Given the description of an element on the screen output the (x, y) to click on. 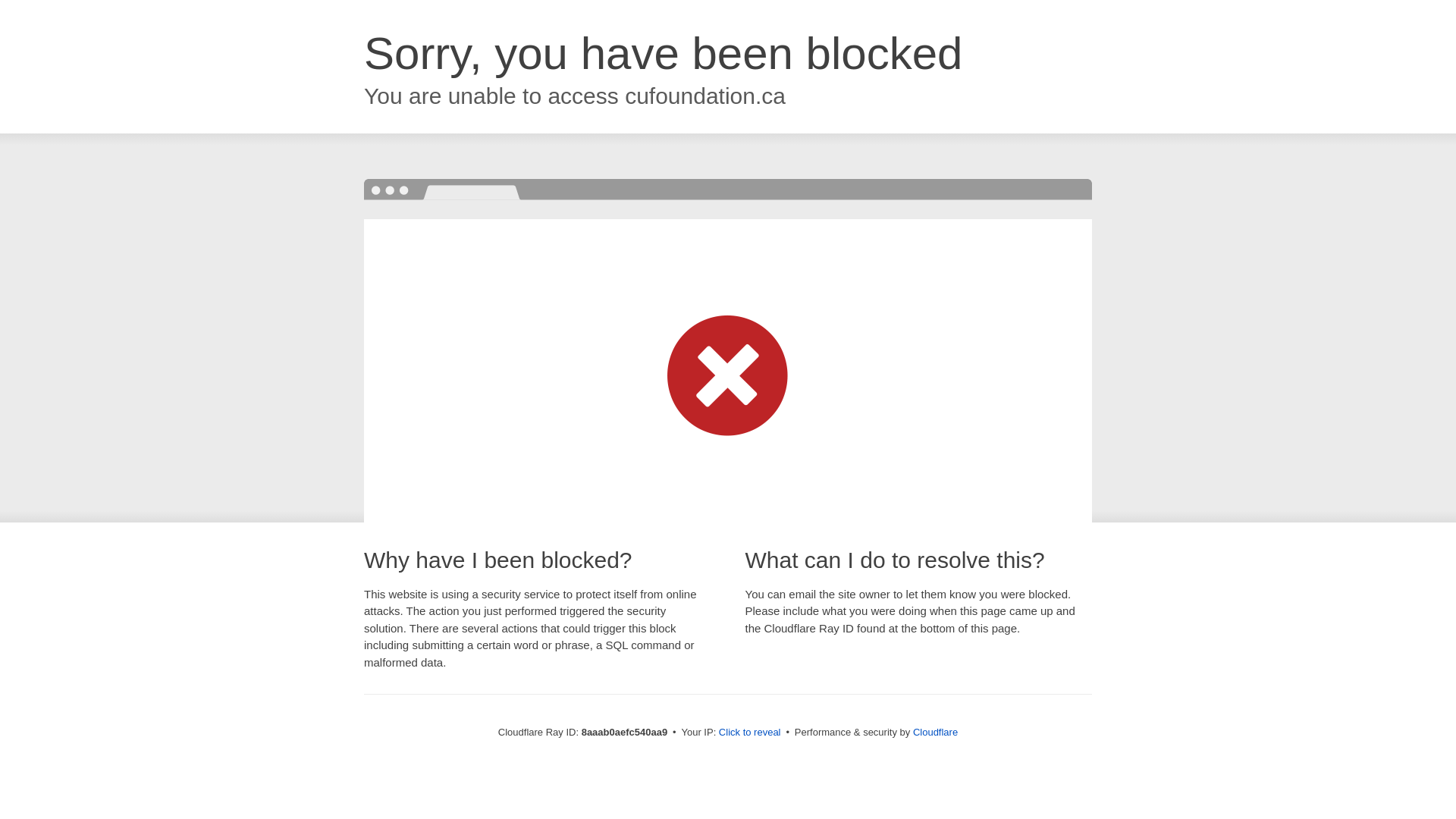
Cloudflare (935, 731)
Click to reveal (749, 732)
